Given the description of an element on the screen output the (x, y) to click on. 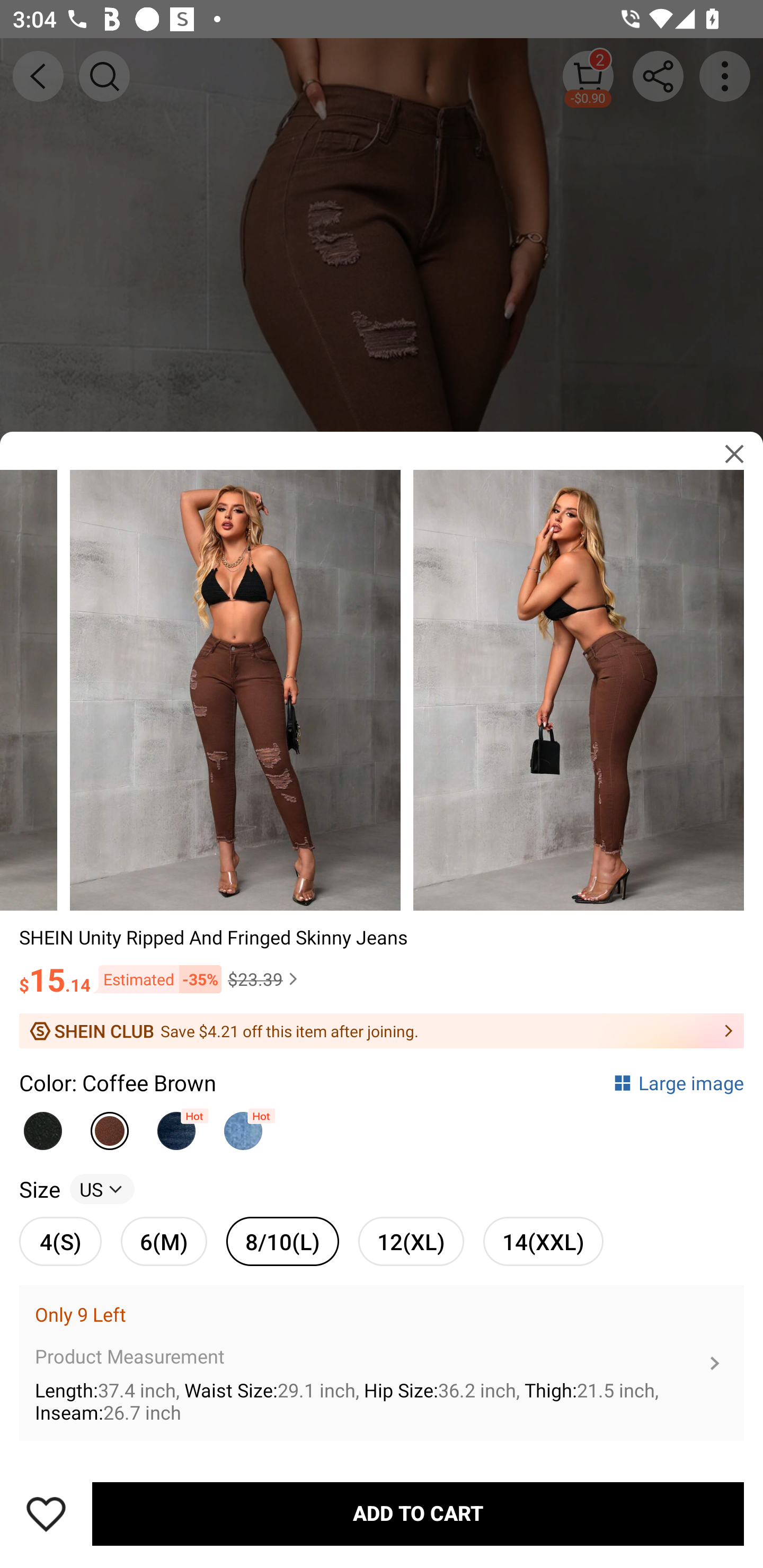
Estimated -35% (155, 978)
$23.39 (265, 978)
Save $4.21 off this item after joining. (381, 1030)
Color: Coffee Brown (117, 1082)
Large image (677, 1082)
Black (42, 1125)
Coffee Brown (109, 1125)
Dark Wash (176, 1125)
Light Wash (242, 1125)
Size (39, 1189)
US (102, 1189)
4(S) 4(S)unselected option (60, 1240)
6(M) 6(M)unselected option (163, 1240)
8/10(L) 8/10(L)selected option (282, 1240)
12(XL) 12(XL)unselected option (410, 1240)
14(XXL) 14(XXL)unselected option (542, 1240)
ADD TO CART (417, 1513)
Save (46, 1513)
